Given the description of an element on the screen output the (x, y) to click on. 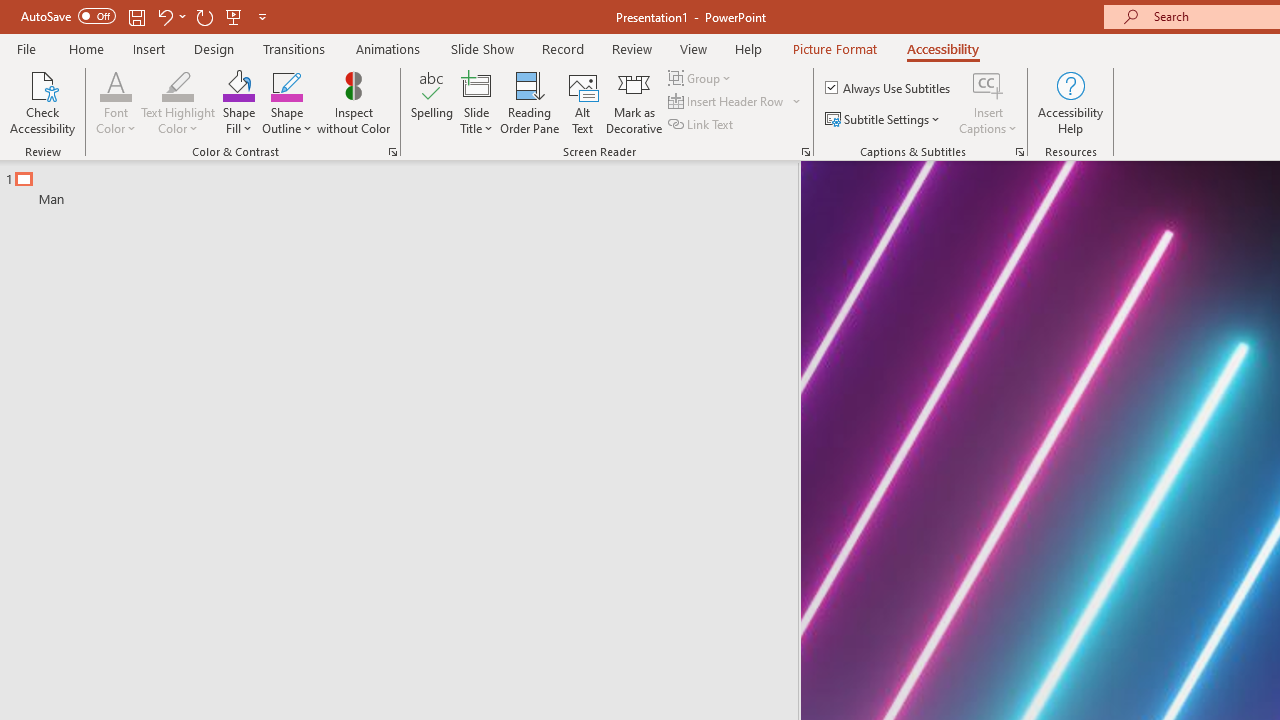
Font Color (116, 84)
Redo (204, 15)
Slide Title (476, 84)
Design (214, 48)
Save (136, 15)
Inspect without Color (353, 102)
Insert Header Row (727, 101)
From Beginning (234, 15)
Always Use Subtitles (889, 87)
Outline (408, 184)
Picture Format (834, 48)
Insert Captions (988, 102)
